Given the description of an element on the screen output the (x, y) to click on. 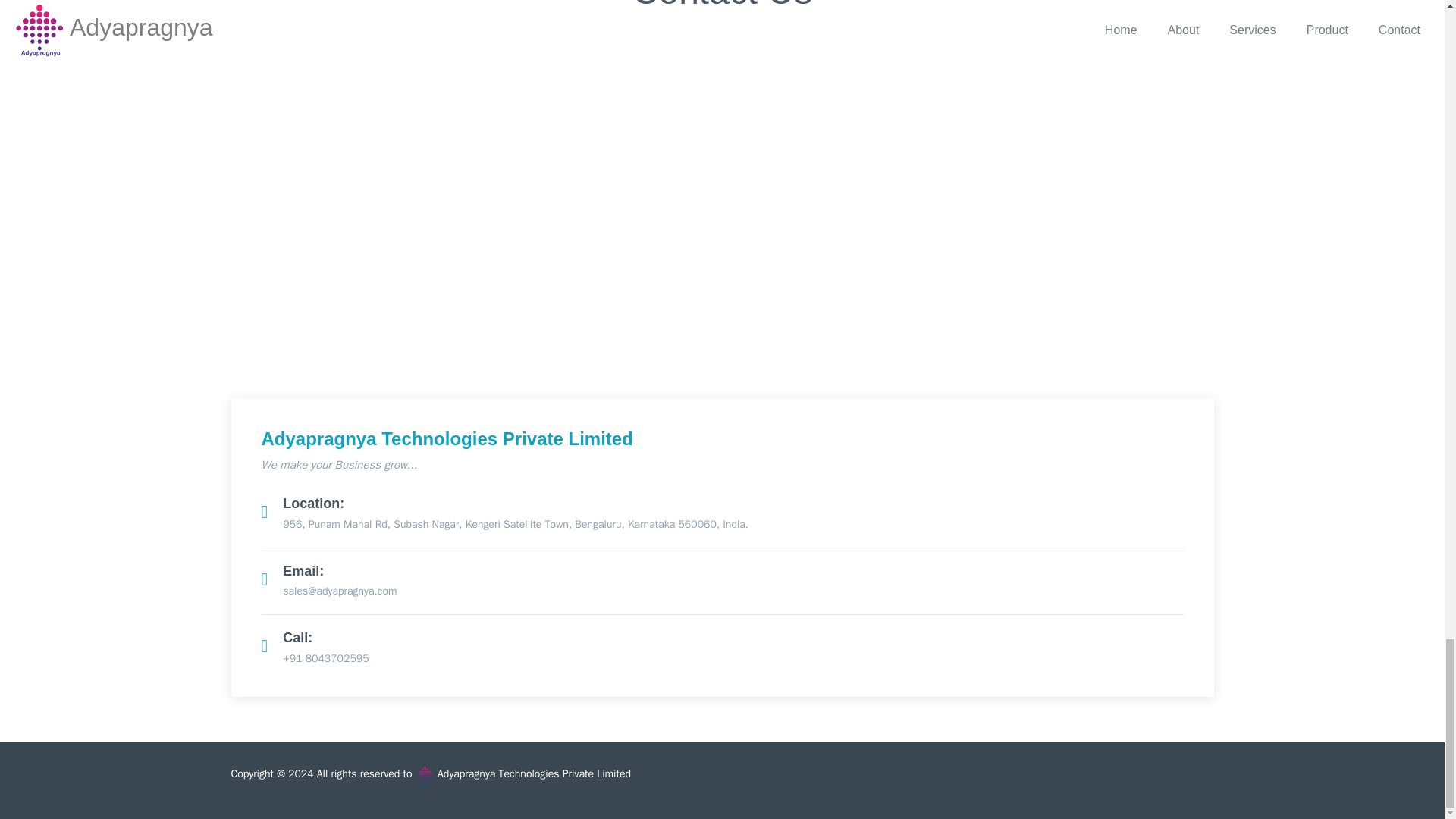
Adyapragnya Technologies Private Limited (531, 773)
